Given the description of an element on the screen output the (x, y) to click on. 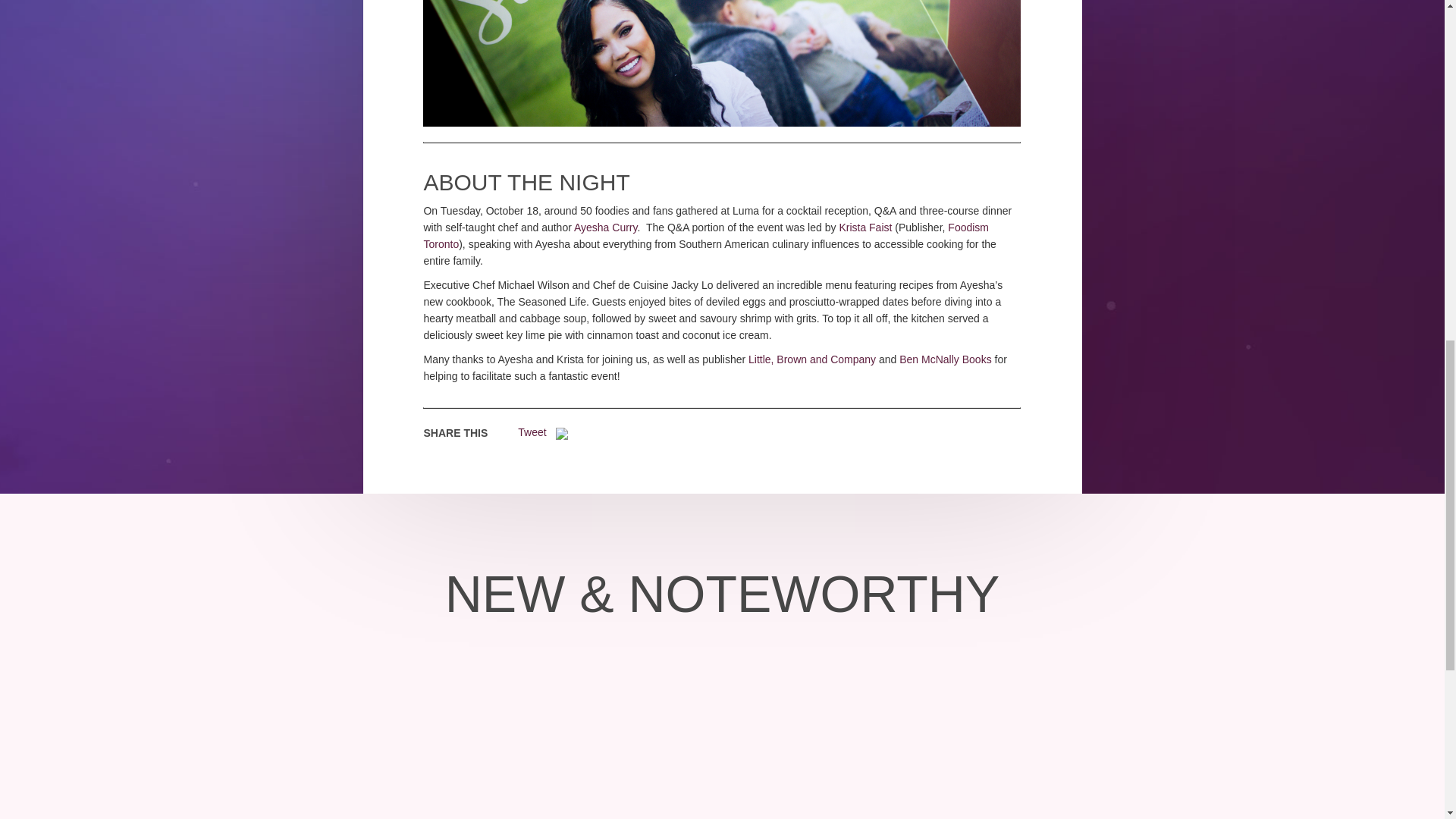
Ben McNally Books (945, 358)
Ayesha Curry (605, 227)
Little, Brown and Company (812, 358)
Tweet (532, 431)
Krista Faist (864, 227)
Foodism Toronto (705, 235)
